Given the description of an element on the screen output the (x, y) to click on. 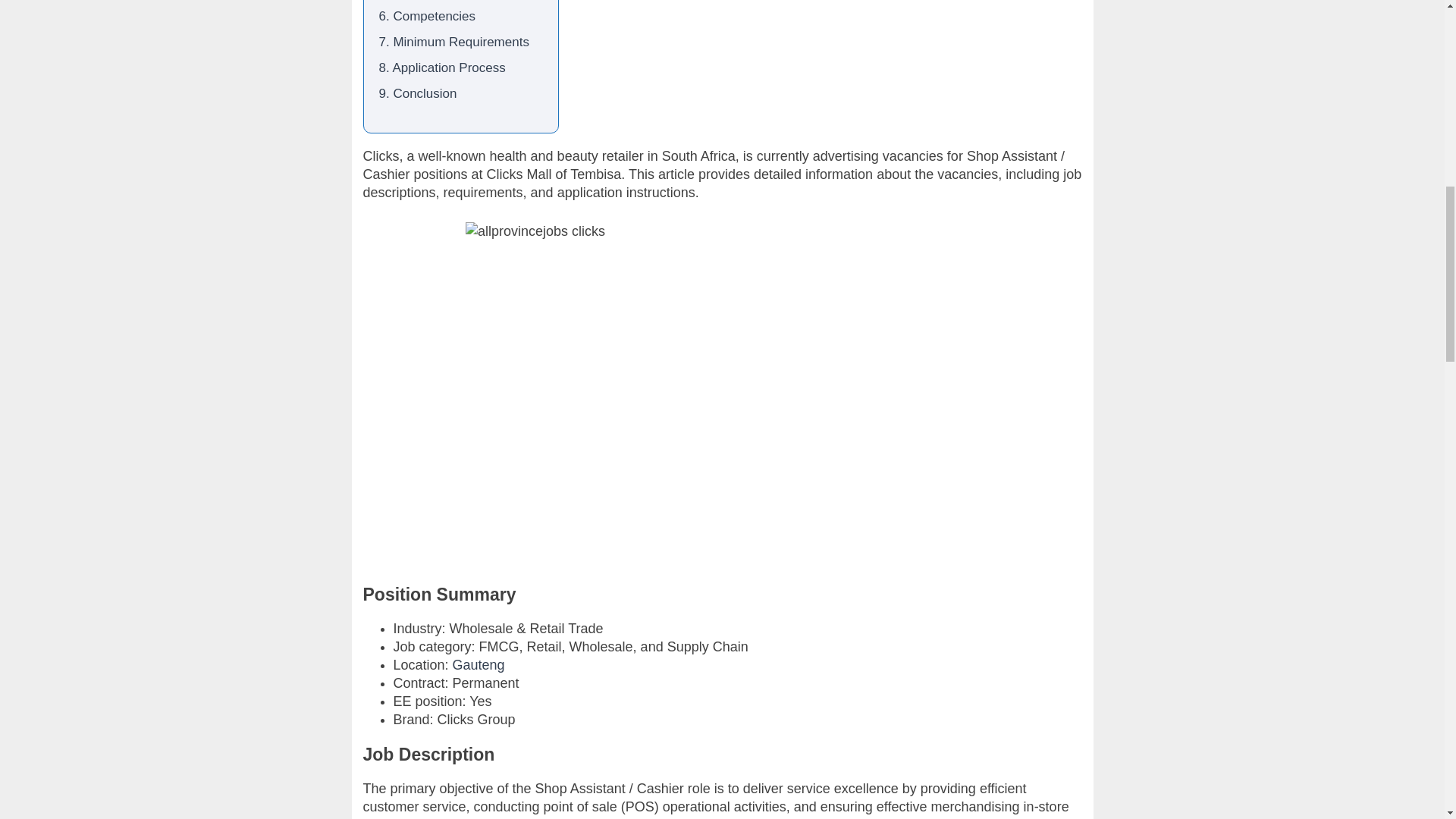
Gauteng (478, 664)
7. Minimum Requirements (453, 42)
9. Conclusion (417, 93)
8. Application Process (441, 67)
6. Competencies (427, 16)
